Given the description of an element on the screen output the (x, y) to click on. 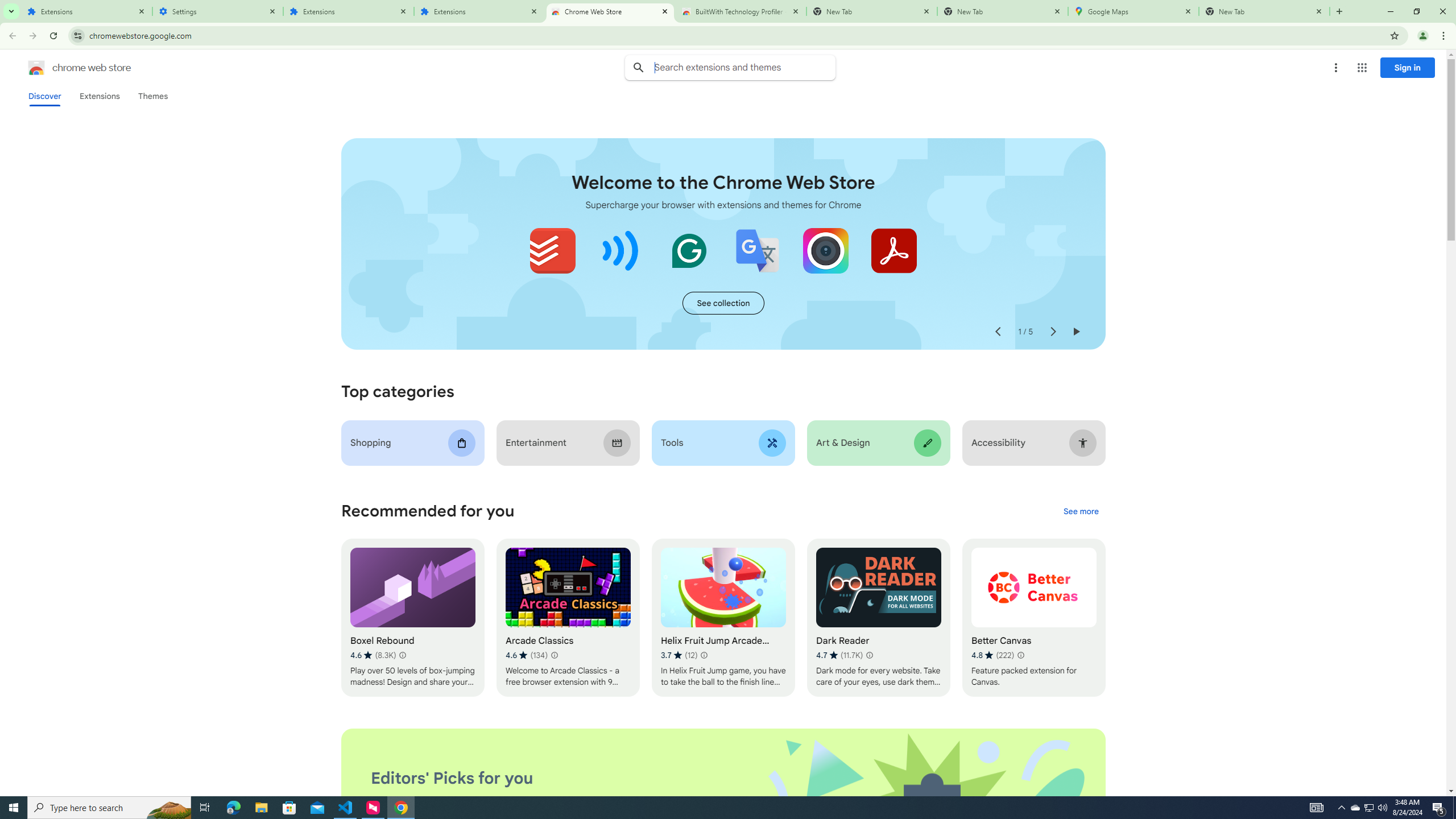
Previous slide (997, 331)
BuiltWith Technology Profiler - Chrome Web Store (740, 11)
Art & Design (878, 443)
Average rating 4.6 out of 5 stars. 8.3K ratings. (372, 655)
Next slide (1052, 331)
Grammarly: AI Writing and Grammar Checker App (689, 250)
Helix Fruit Jump Arcade Game (722, 617)
Shopping (412, 443)
Learn more about results and reviews "Dark Reader" (869, 655)
Todoist for Chrome (552, 250)
Average rating 4.8 out of 5 stars. 222 ratings. (992, 655)
